Given the description of an element on the screen output the (x, y) to click on. 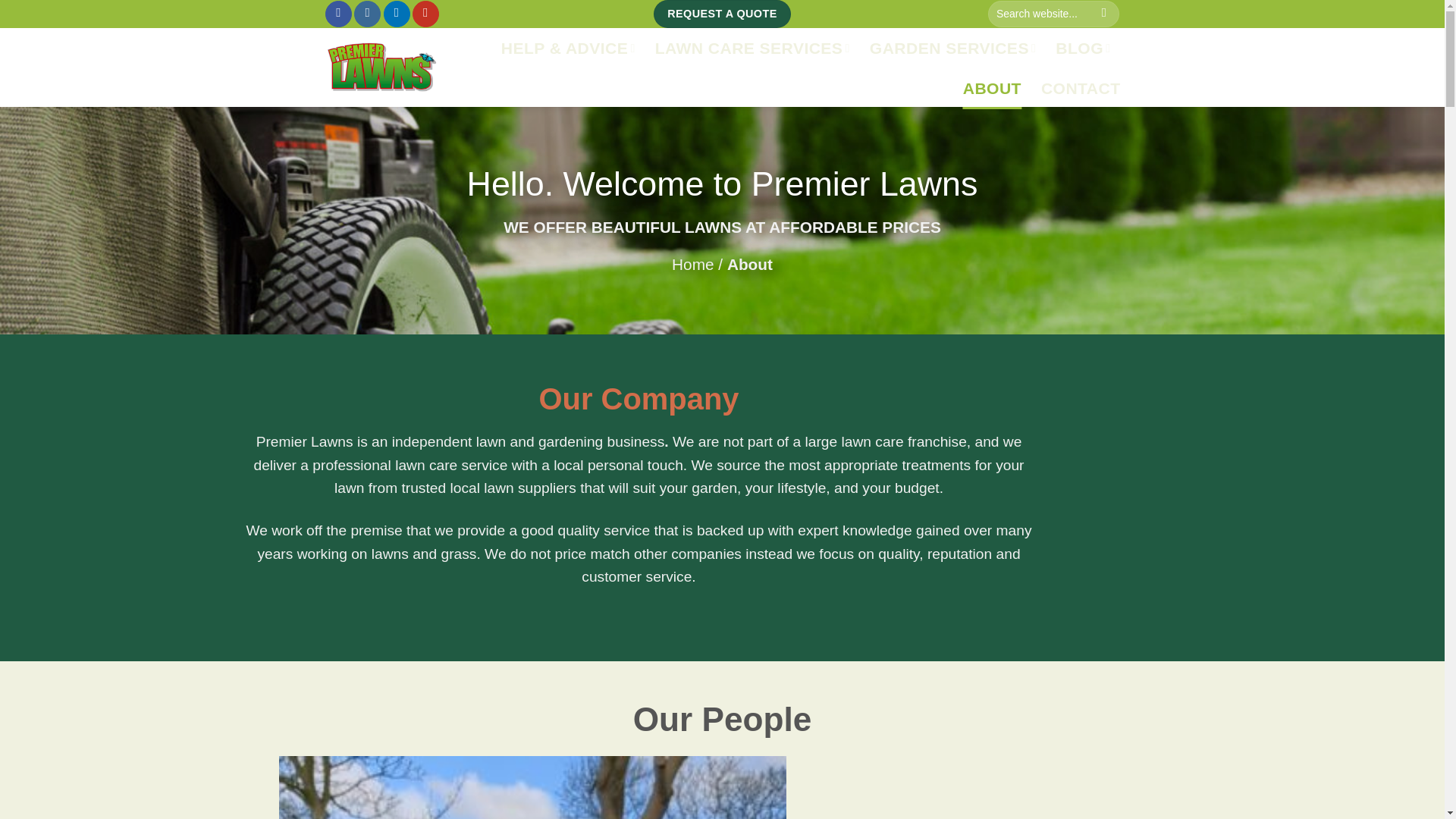
LAWN CARE SERVICES (752, 47)
Follow on LinkedIn (397, 13)
BLOG (1082, 47)
REQUEST A QUOTE (721, 13)
GARDEN SERVICES (952, 47)
Follow on YouTube (425, 13)
Follow on Facebook (338, 13)
Follow on Instagram (366, 13)
